Given the description of an element on the screen output the (x, y) to click on. 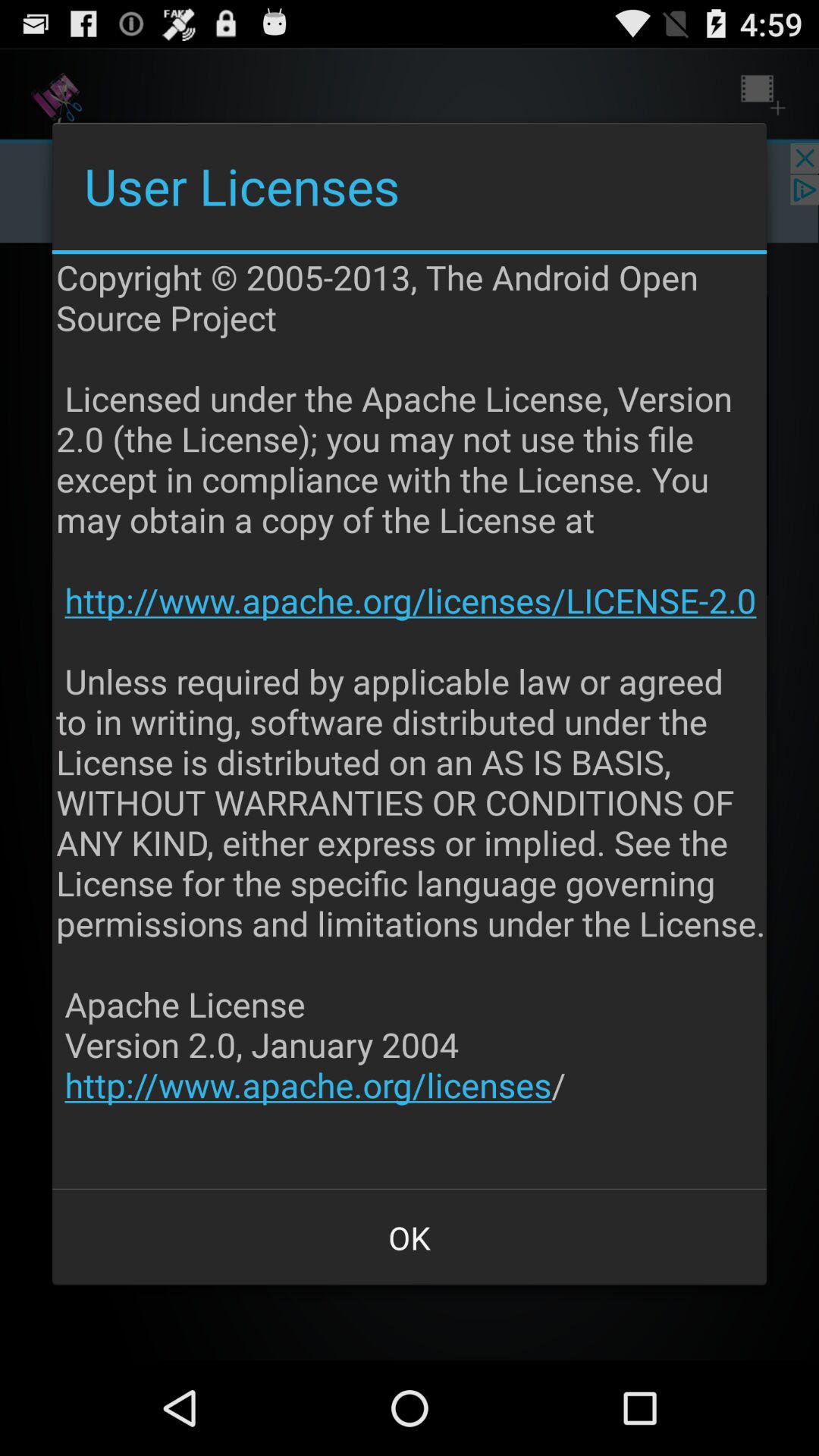
turn on the app below copyright 2005 2013 app (409, 1237)
